Given the description of an element on the screen output the (x, y) to click on. 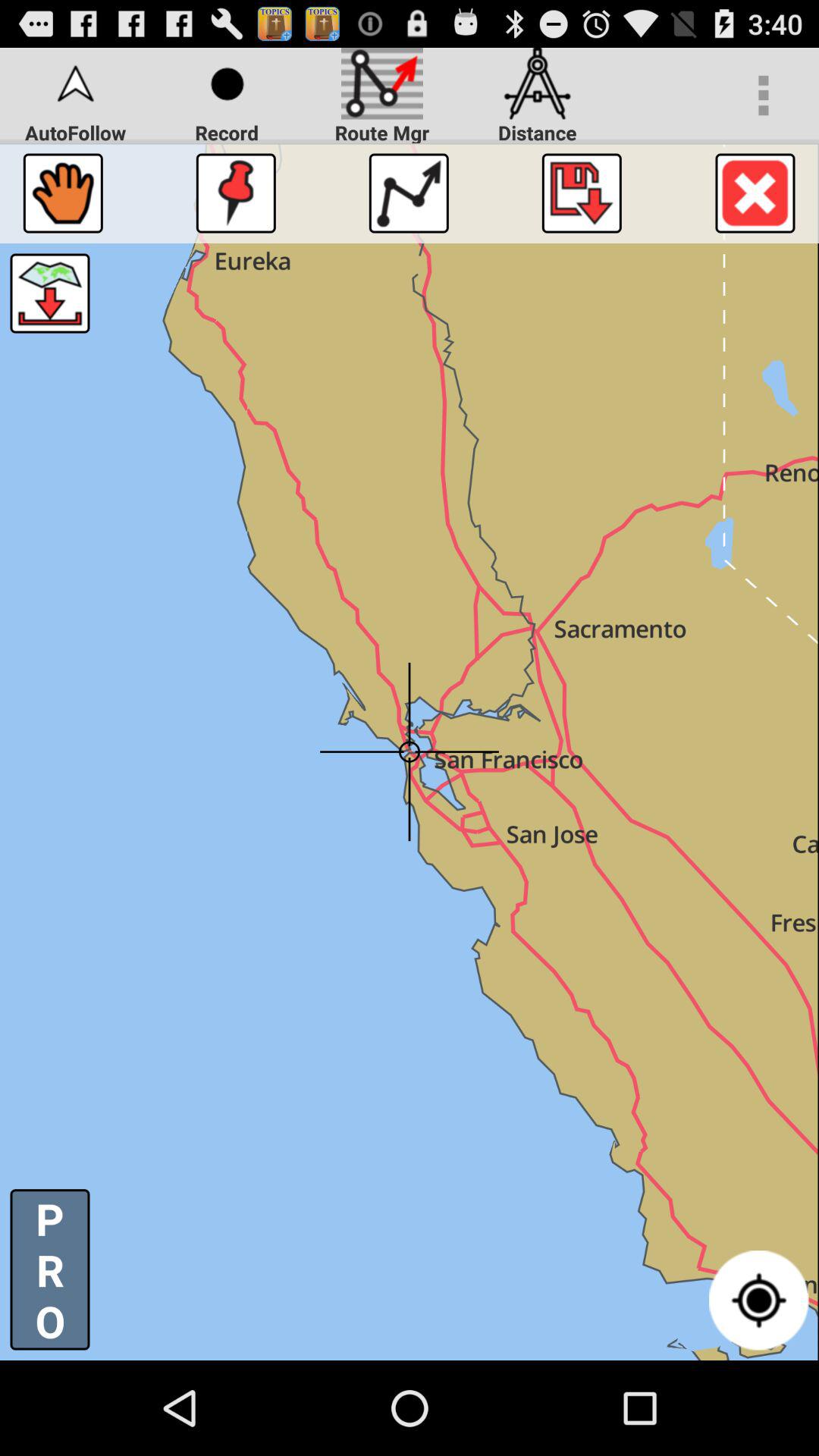
plan route (408, 193)
